Given the description of an element on the screen output the (x, y) to click on. 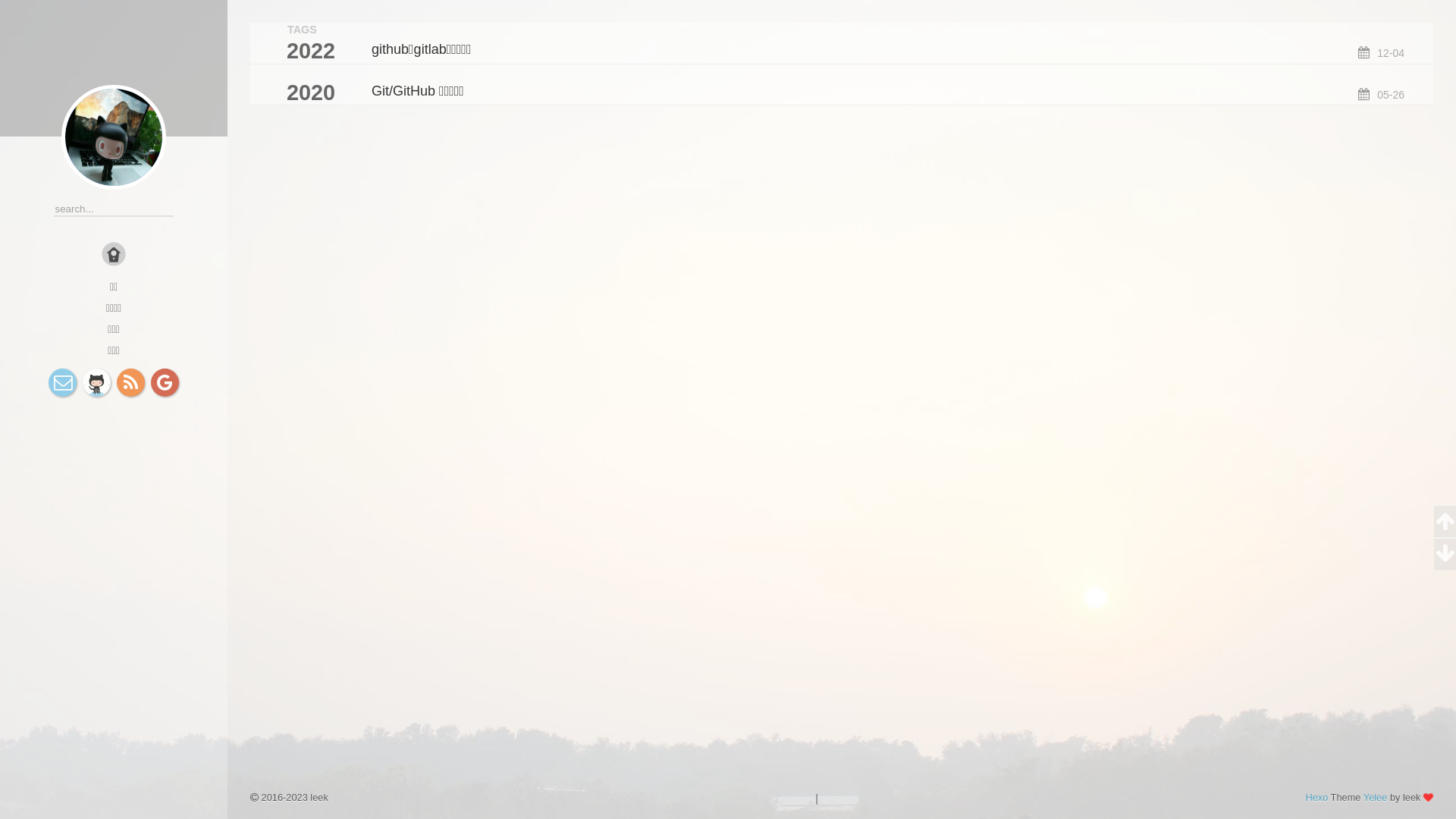
TAGS Element type: text (301, 29)
2020 Element type: text (292, 92)
Yelee Element type: text (1375, 797)
05-26 Element type: text (1381, 93)
Email Element type: hover (62, 382)
12-04 Element type: text (1381, 52)
RSS Element type: hover (130, 382)
Hexo Element type: text (1316, 797)
GitHub Element type: hover (96, 382)
2022 Element type: text (292, 50)
Google Element type: hover (164, 382)
